Given the description of an element on the screen output the (x, y) to click on. 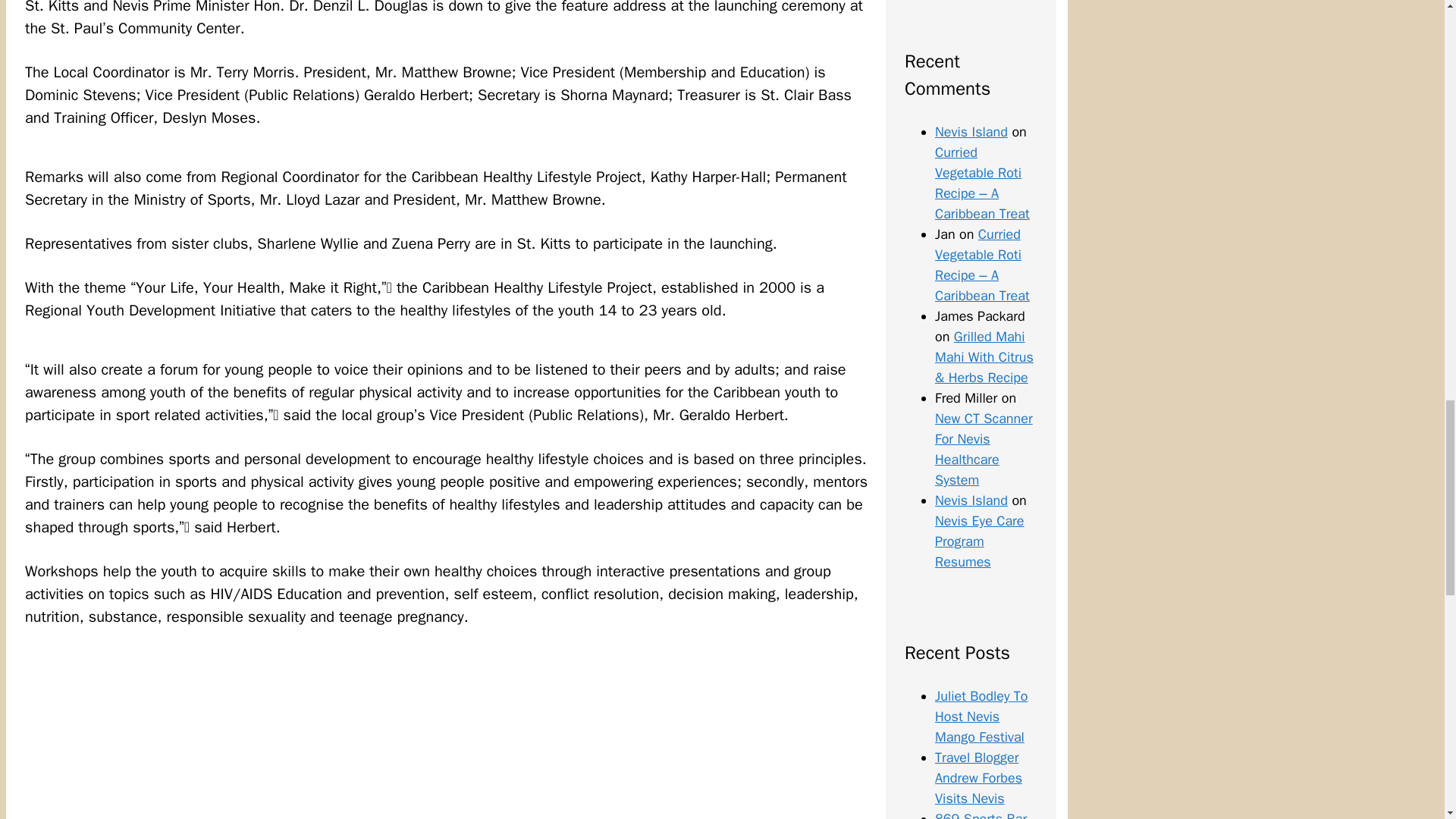
Nevis Island (970, 131)
Nevis Eye Care Program Resumes (979, 541)
New CT Scanner For Nevis Healthcare System (983, 449)
Nevis Island (970, 500)
